Given the description of an element on the screen output the (x, y) to click on. 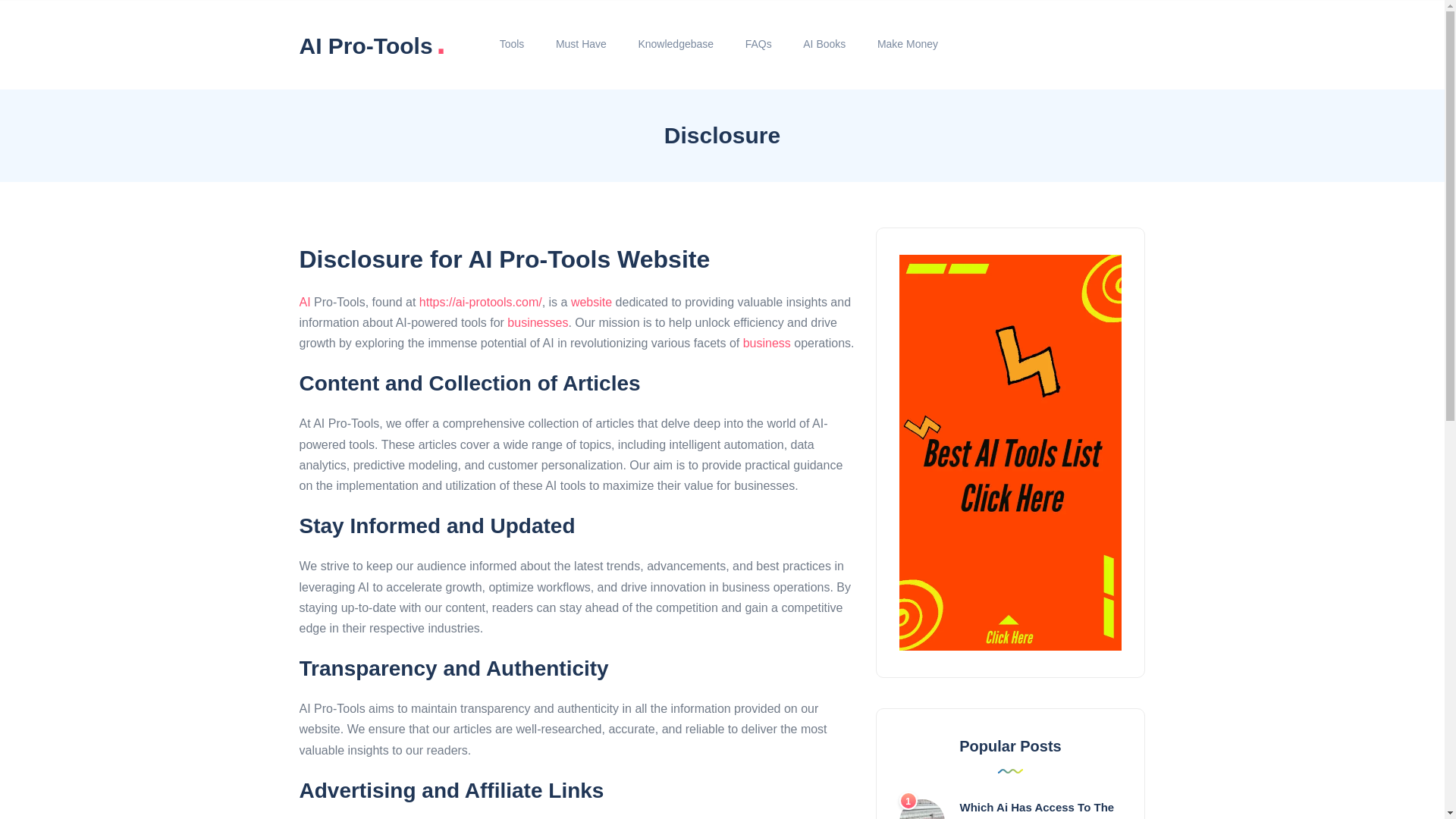
business (766, 342)
Knowledgebase (676, 44)
website (590, 301)
FAQs (758, 44)
Must Have (581, 44)
AI Books (824, 44)
Make Money (907, 44)
businesses (536, 322)
Tools (511, 44)
AI Pro-Tools. (371, 44)
Which Ai Has Access To The Internet? (1037, 809)
